Given the description of an element on the screen output the (x, y) to click on. 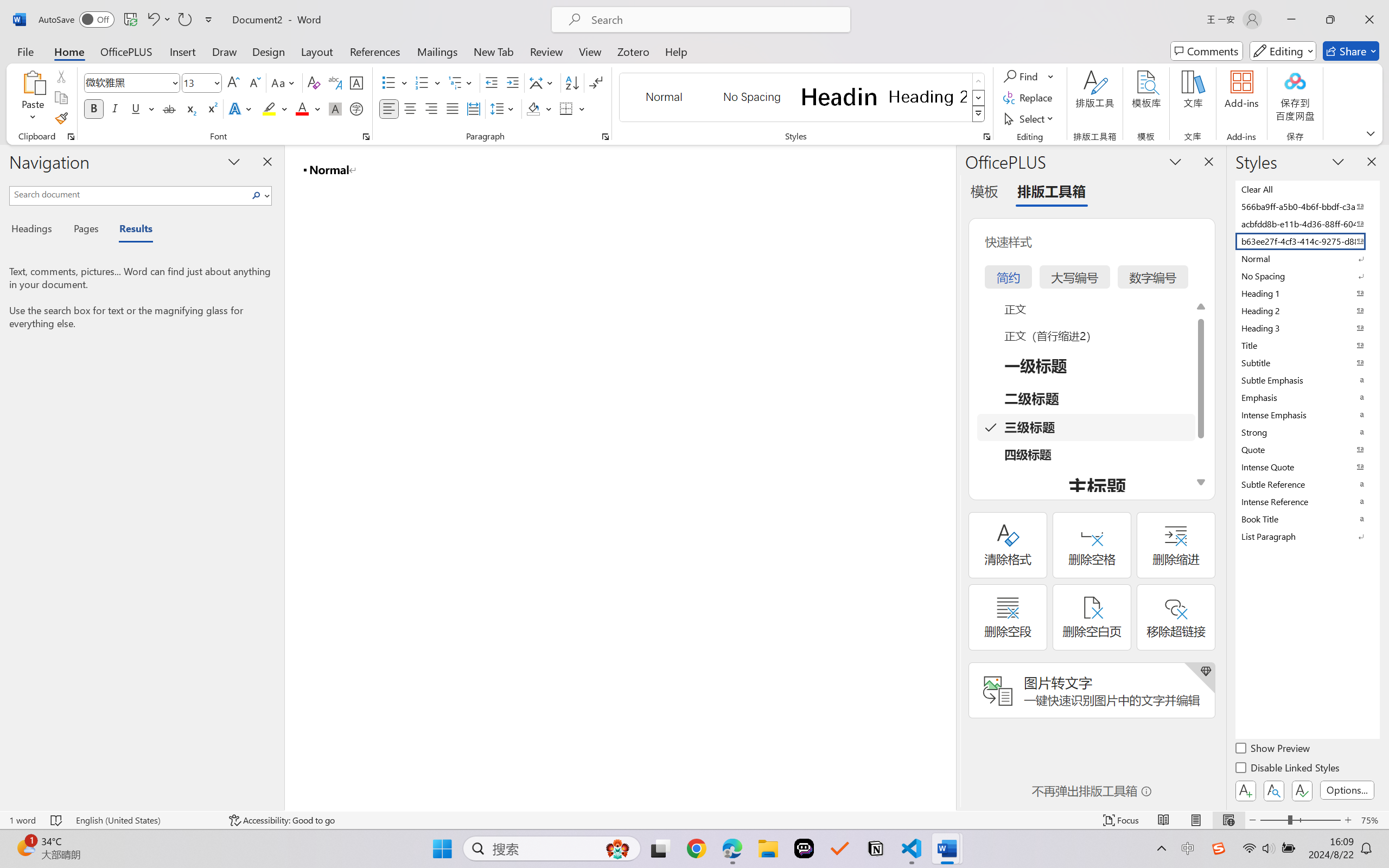
Italic (115, 108)
Zoom In (1348, 819)
